Given the description of an element on the screen output the (x, y) to click on. 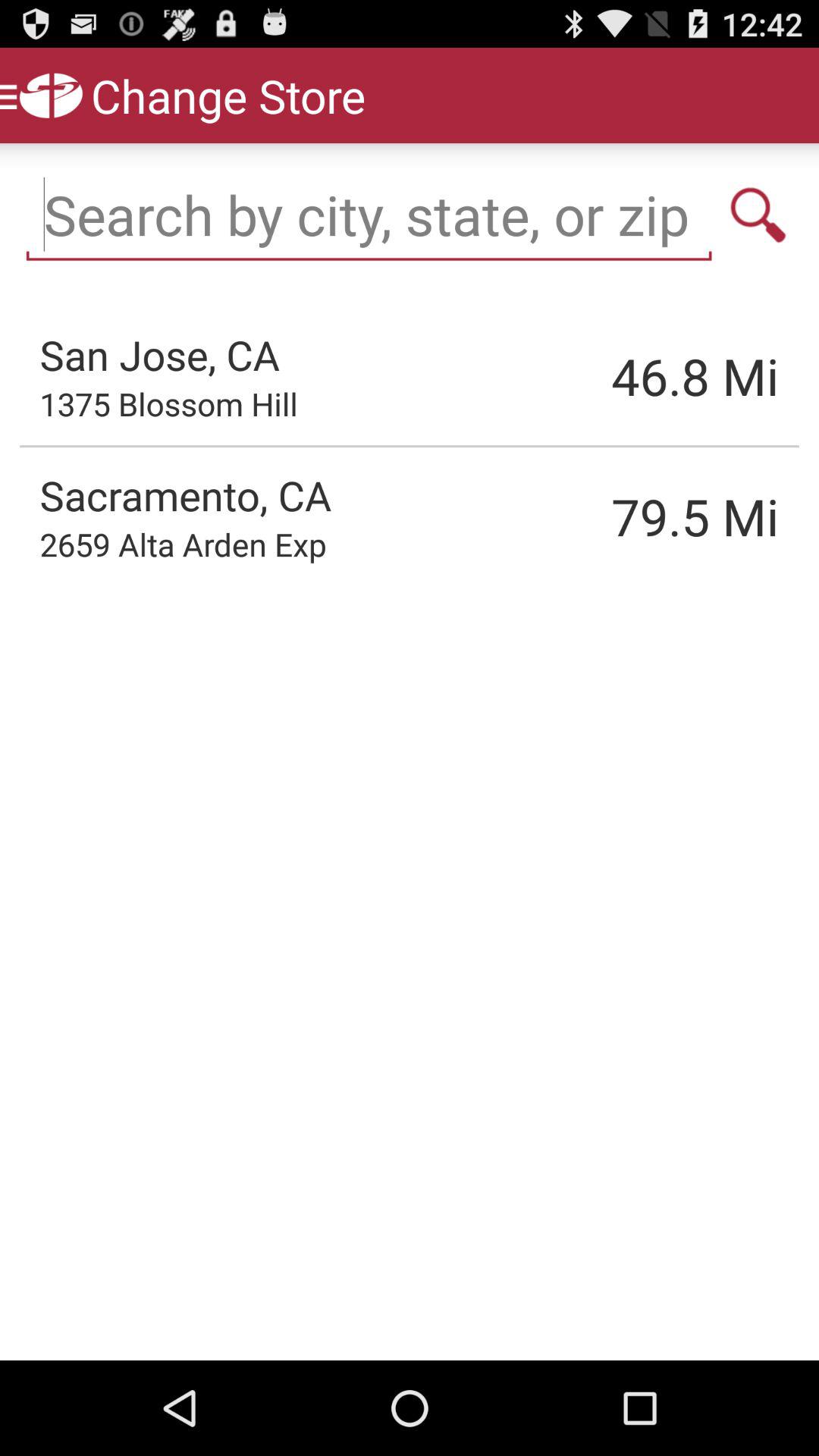
open app next to 1375 blossom hill icon (617, 376)
